Given the description of an element on the screen output the (x, y) to click on. 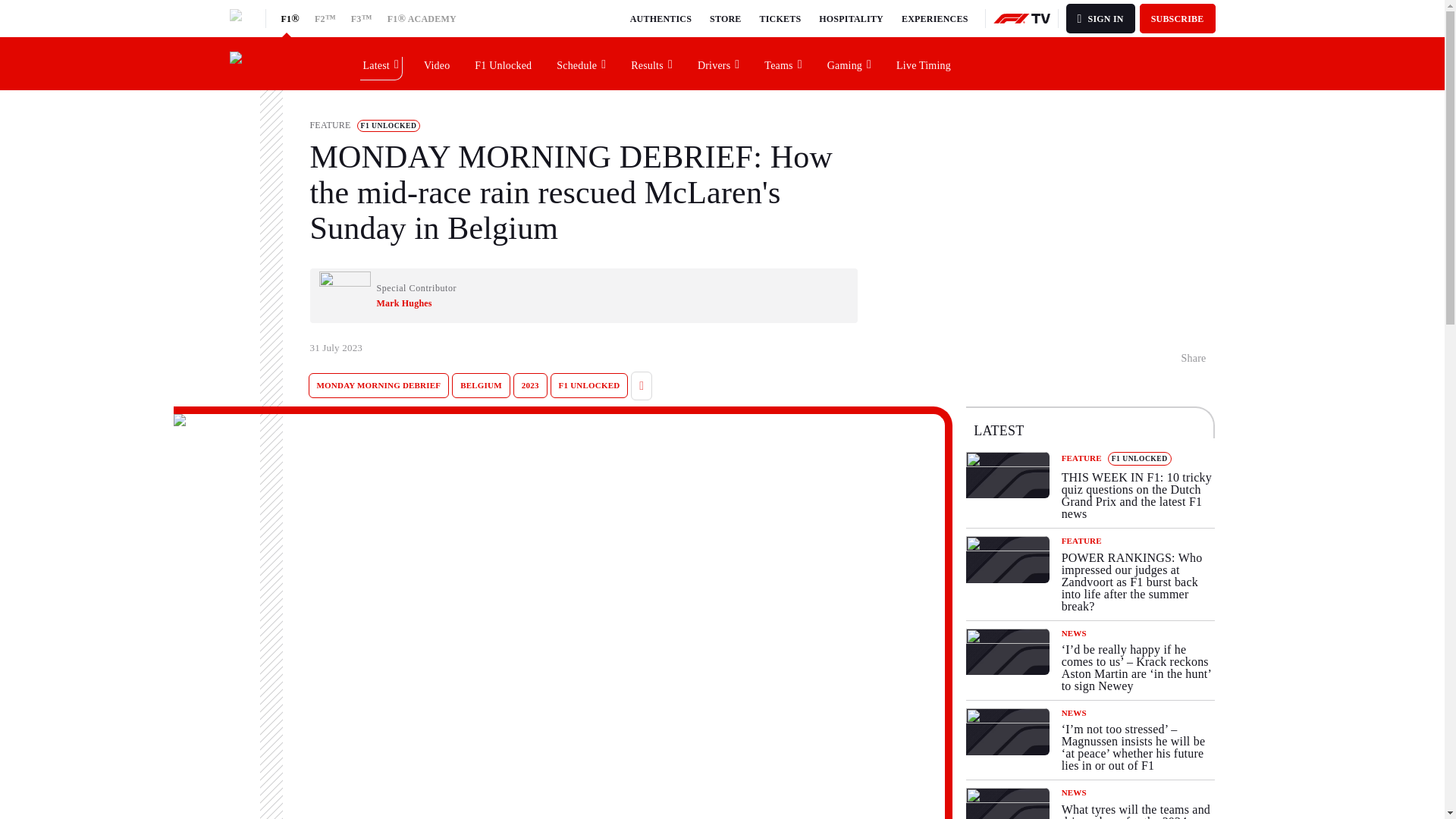
HOSPITALITY (850, 18)
Teams (782, 63)
BELGIUM (481, 385)
EXPERIENCES (934, 18)
Schedule (581, 63)
Results (651, 63)
AUTHENTICS (660, 18)
Live Timing (923, 63)
STORE (725, 18)
